Given the description of an element on the screen output the (x, y) to click on. 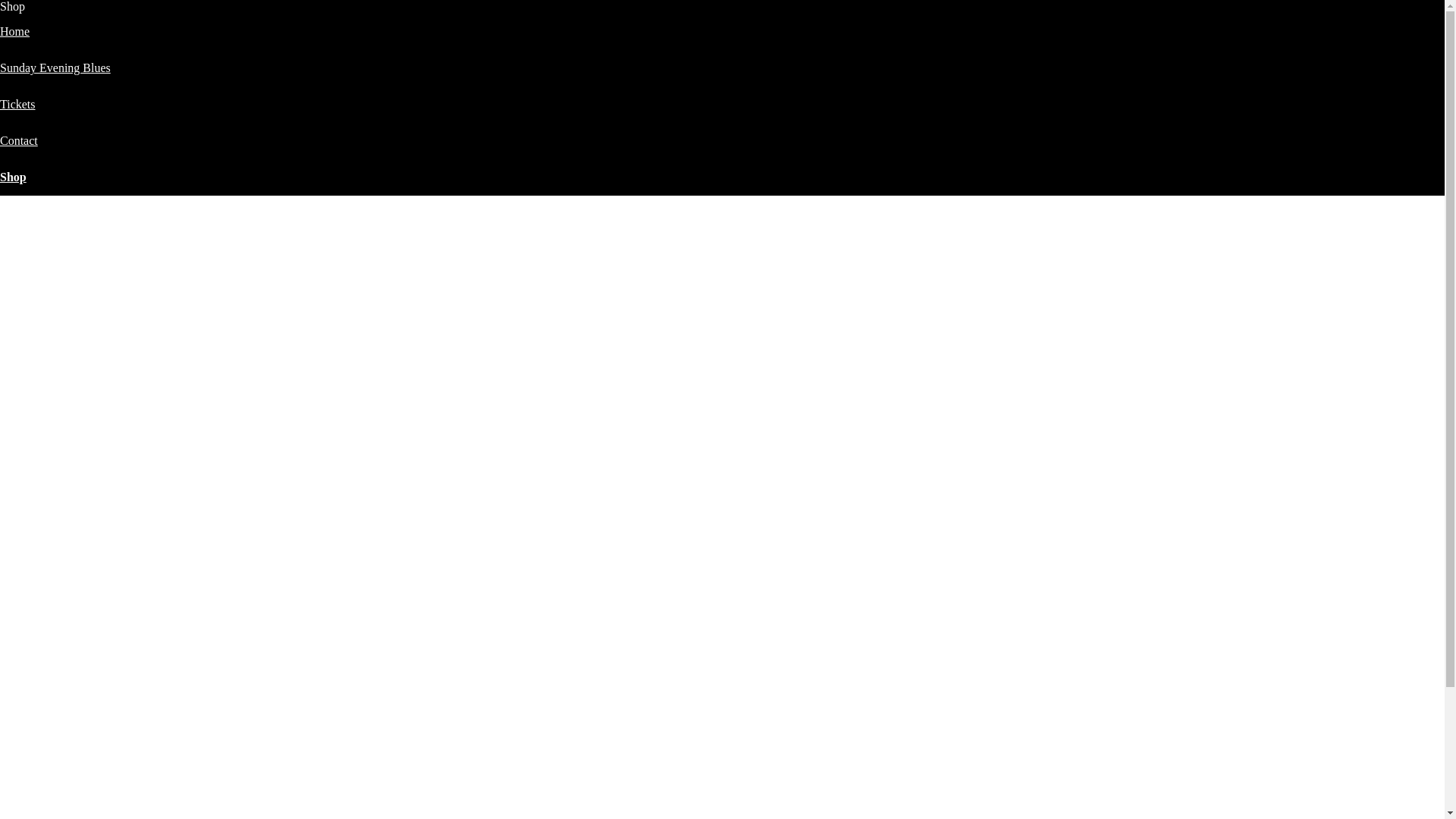
Home Element type: text (14, 31)
Tickets Element type: text (17, 103)
Shop Element type: text (13, 176)
Sunday Evening Blues Element type: text (55, 67)
Contact Element type: text (18, 140)
